Given the description of an element on the screen output the (x, y) to click on. 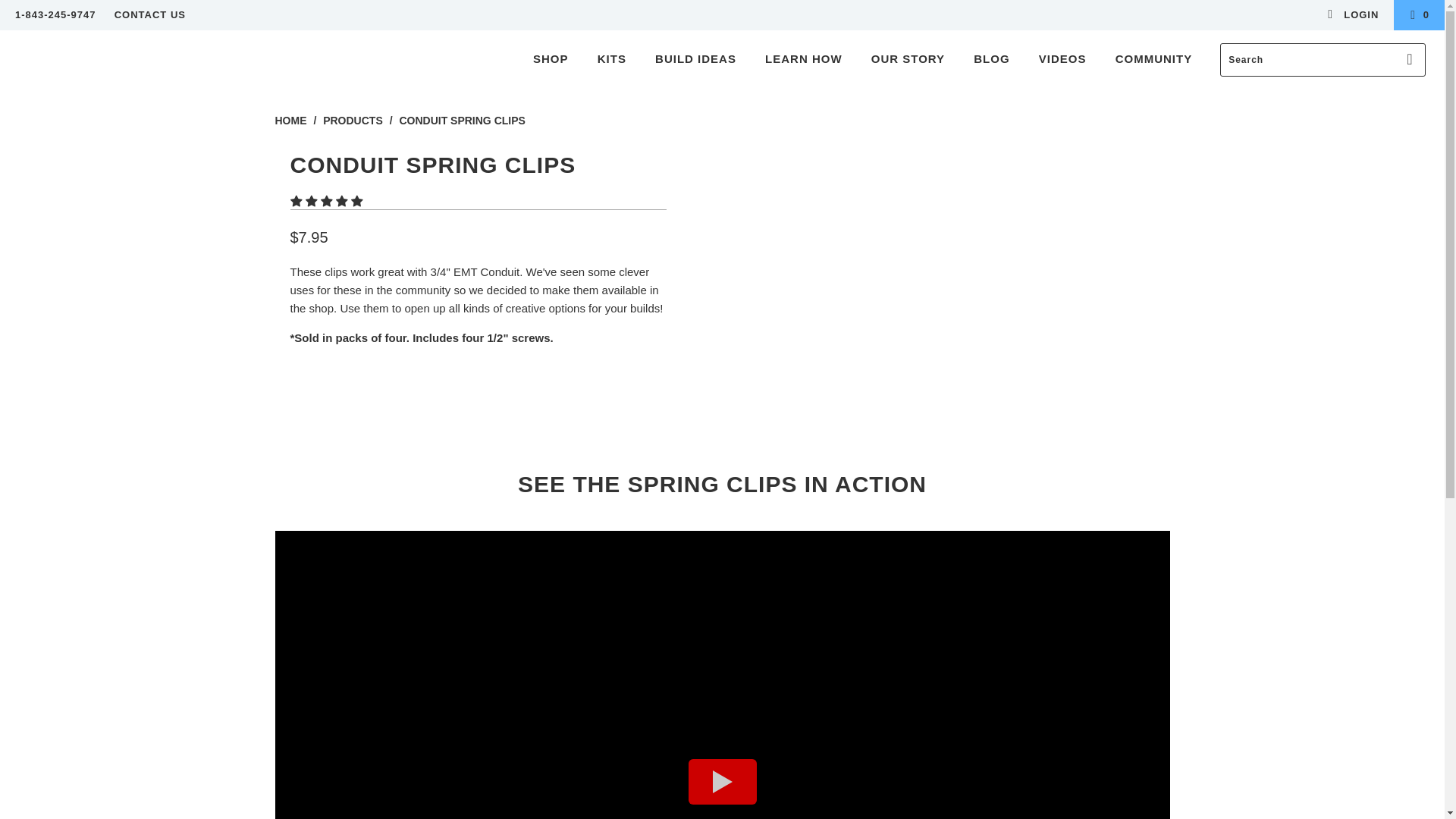
Maker Pipe (290, 120)
BUILD IDEAS (695, 58)
1-843-245-9747 (55, 15)
KITS (611, 58)
OUR STORY (907, 58)
VIDEOS (1062, 58)
BLOG (990, 58)
Products (354, 120)
My Account  (1351, 15)
CONTACT US (150, 15)
Maker Pipe (122, 41)
SHOP (551, 58)
LOGIN (1351, 15)
LEARN HOW (803, 58)
COMMUNITY (1154, 58)
